Given the description of an element on the screen output the (x, y) to click on. 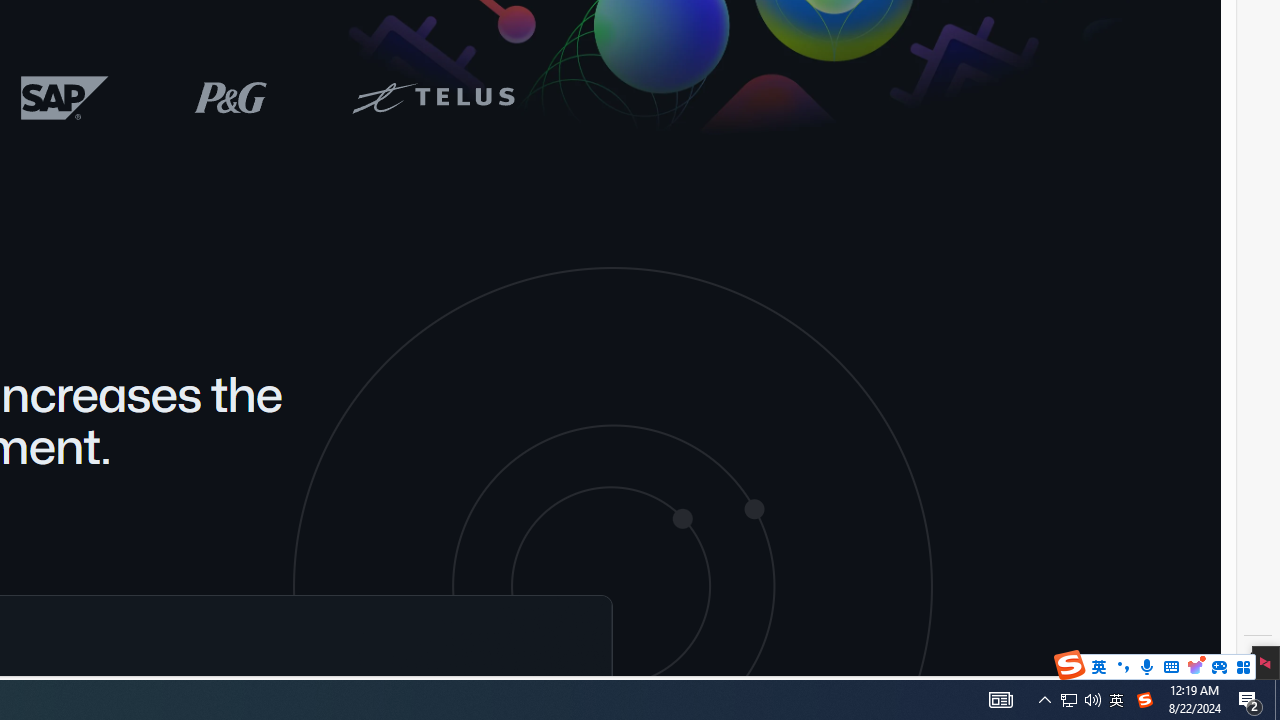
User Promoted Notification Area (1080, 699)
Q2790: 100% (1092, 699)
Action Center, 2 new notifications (1069, 699)
Show desktop (1250, 699)
Notification Chevron (1277, 699)
AutomationID: 4105 (1044, 699)
Tray Input Indicator - Chinese (Simplified, China) (1000, 699)
